Given the description of an element on the screen output the (x, y) to click on. 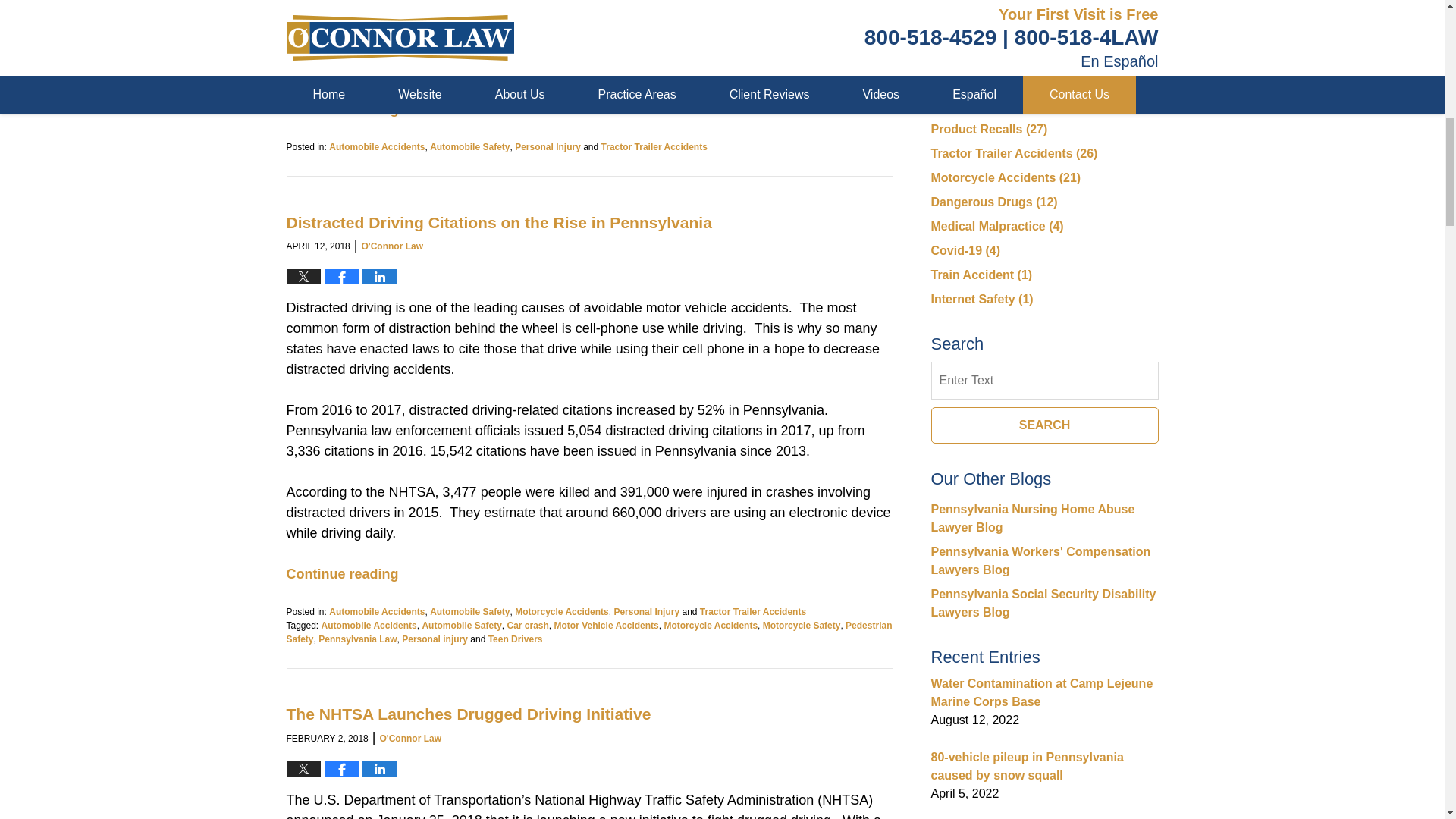
View all posts in Automobile Accidents (377, 611)
View all posts in Tractor Trailer Accidents (654, 146)
Continue Reading Tractor Trailer Accidents (342, 109)
View all posts in Personal Injury (547, 146)
View all posts in Automobile Safety (469, 611)
View all posts in Automobile Accidents (377, 146)
View all posts in Automobile Safety (469, 146)
Continue reading (342, 109)
